Given the description of an element on the screen output the (x, y) to click on. 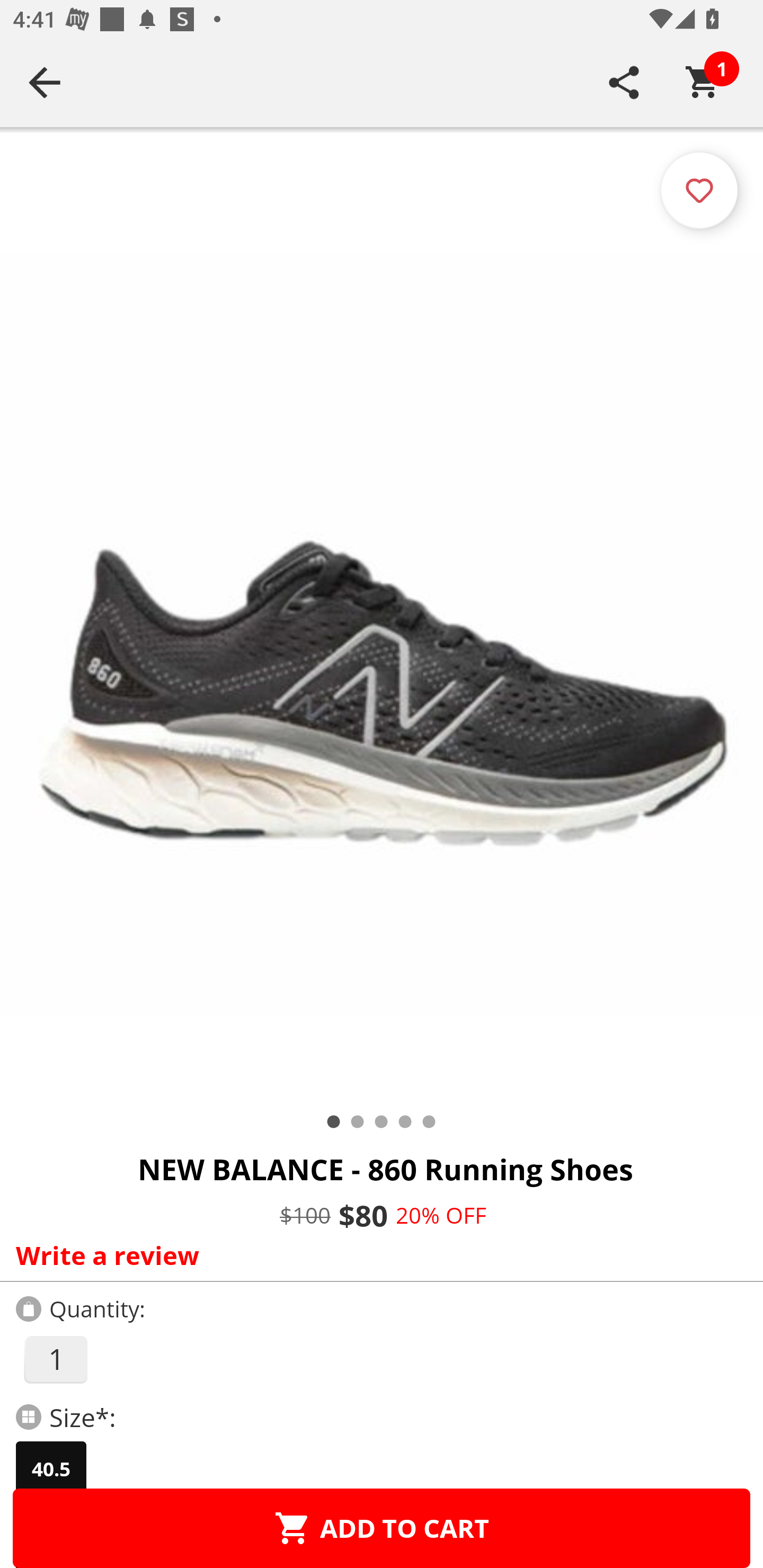
Navigate up (44, 82)
SHARE (623, 82)
Cart (703, 81)
Write a review (377, 1255)
1 (55, 1358)
40.5 (51, 1468)
ADD TO CART (381, 1528)
